Given the description of an element on the screen output the (x, y) to click on. 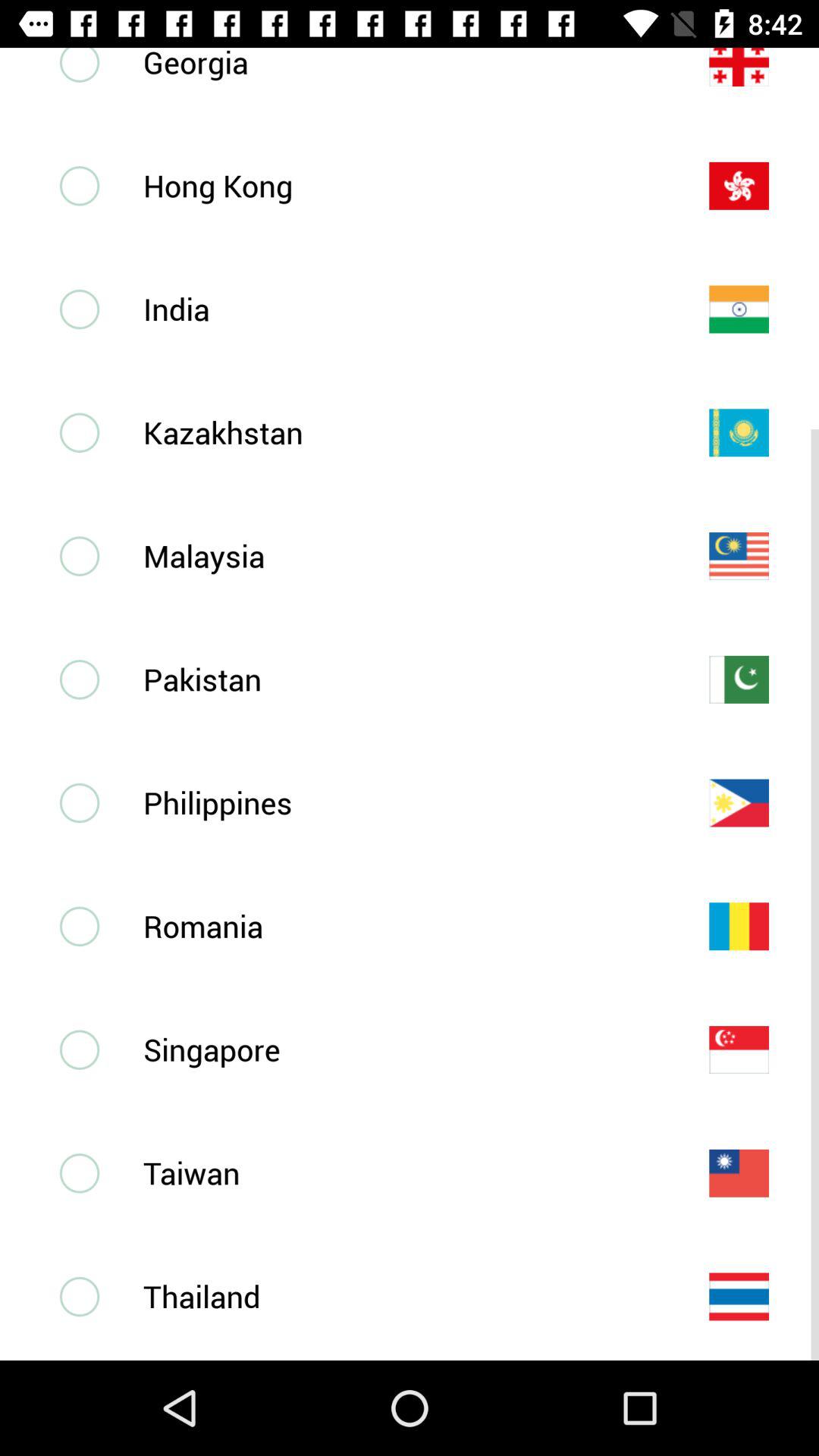
jump until thailand icon (401, 1296)
